Given the description of an element on the screen output the (x, y) to click on. 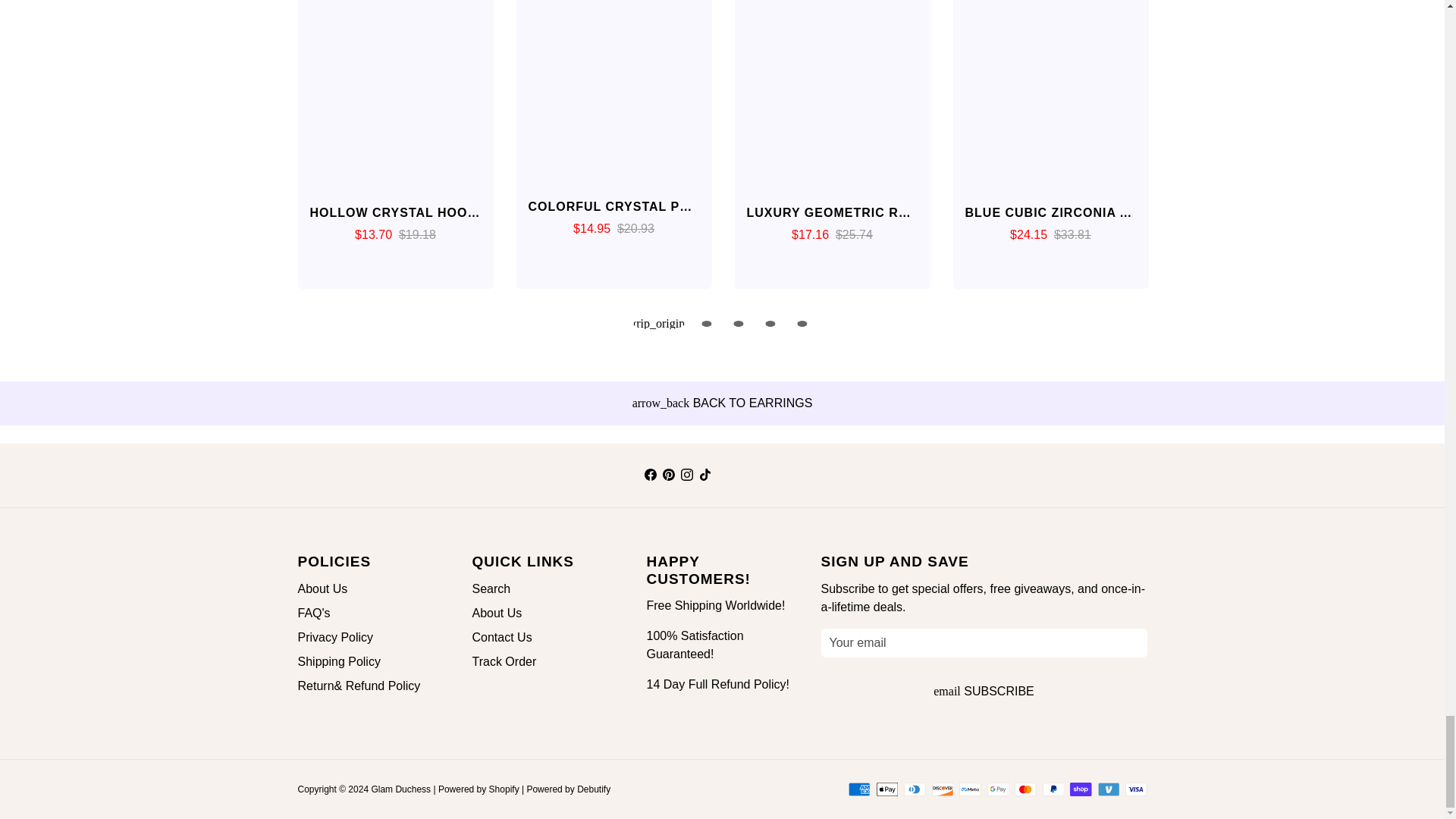
Diners Club (915, 789)
Google Pay (998, 789)
American Express (859, 789)
Meta Pay (970, 789)
Apple Pay (887, 789)
Discover (941, 789)
